Given the description of an element on the screen output the (x, y) to click on. 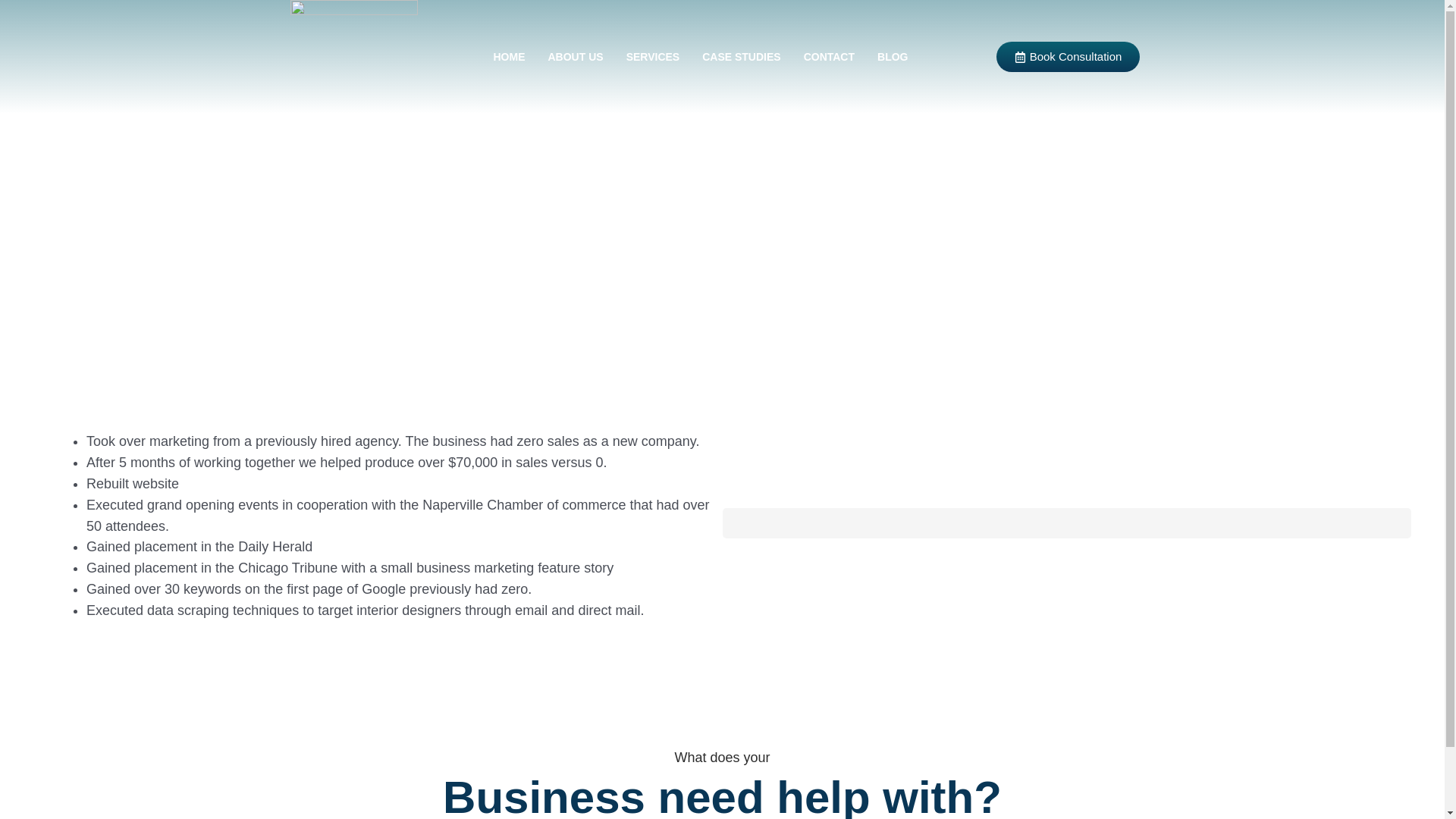
Book Consultation (1067, 56)
SERVICES (652, 56)
HOME (509, 56)
CASE STUDIES (741, 56)
BLOG (892, 56)
ABOUT US (575, 56)
CONTACT (829, 56)
